Given the description of an element on the screen output the (x, y) to click on. 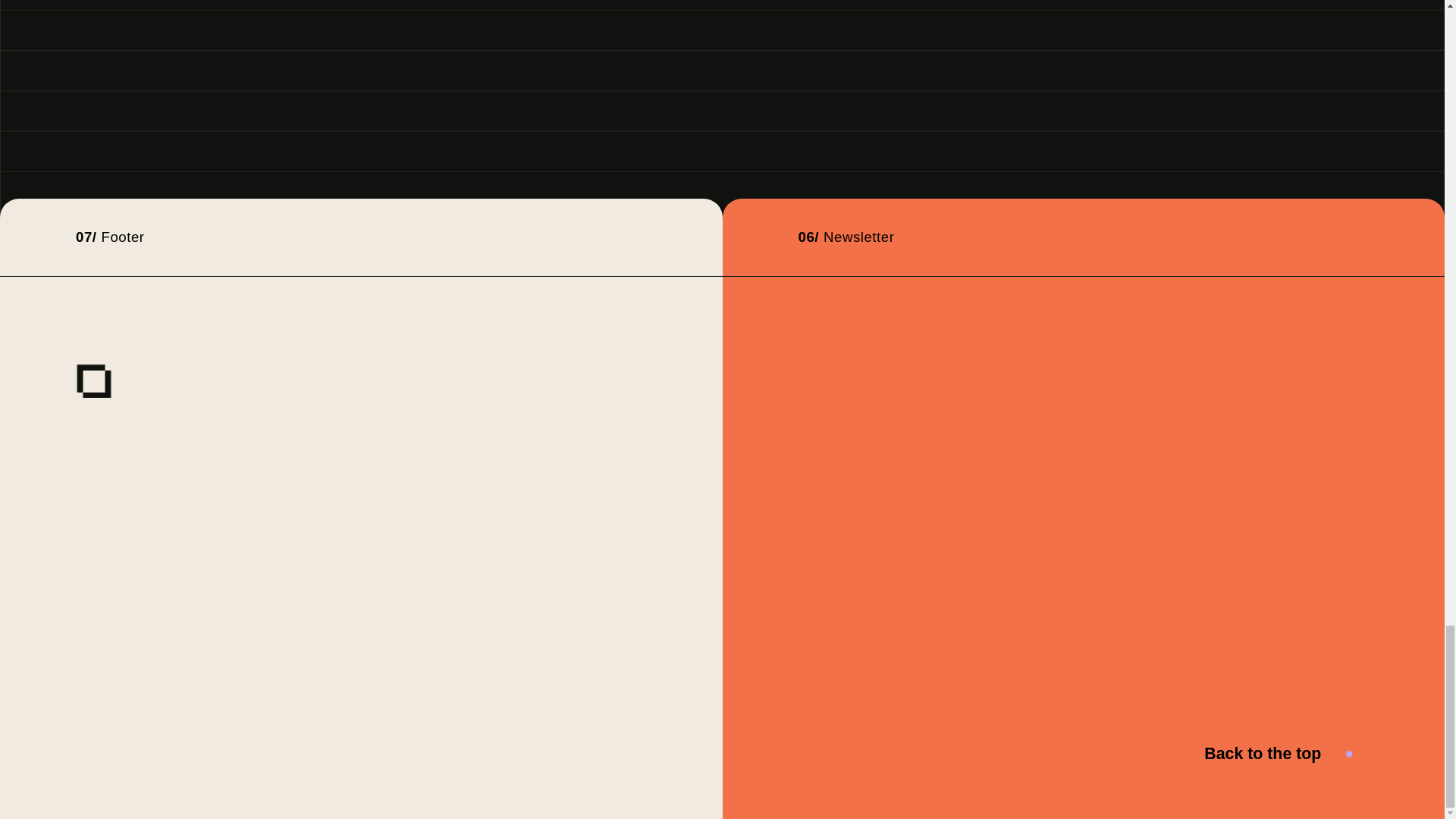
Back to the top (1286, 753)
Back to the top (1286, 753)
Back to the top (1267, 754)
